Given the description of an element on the screen output the (x, y) to click on. 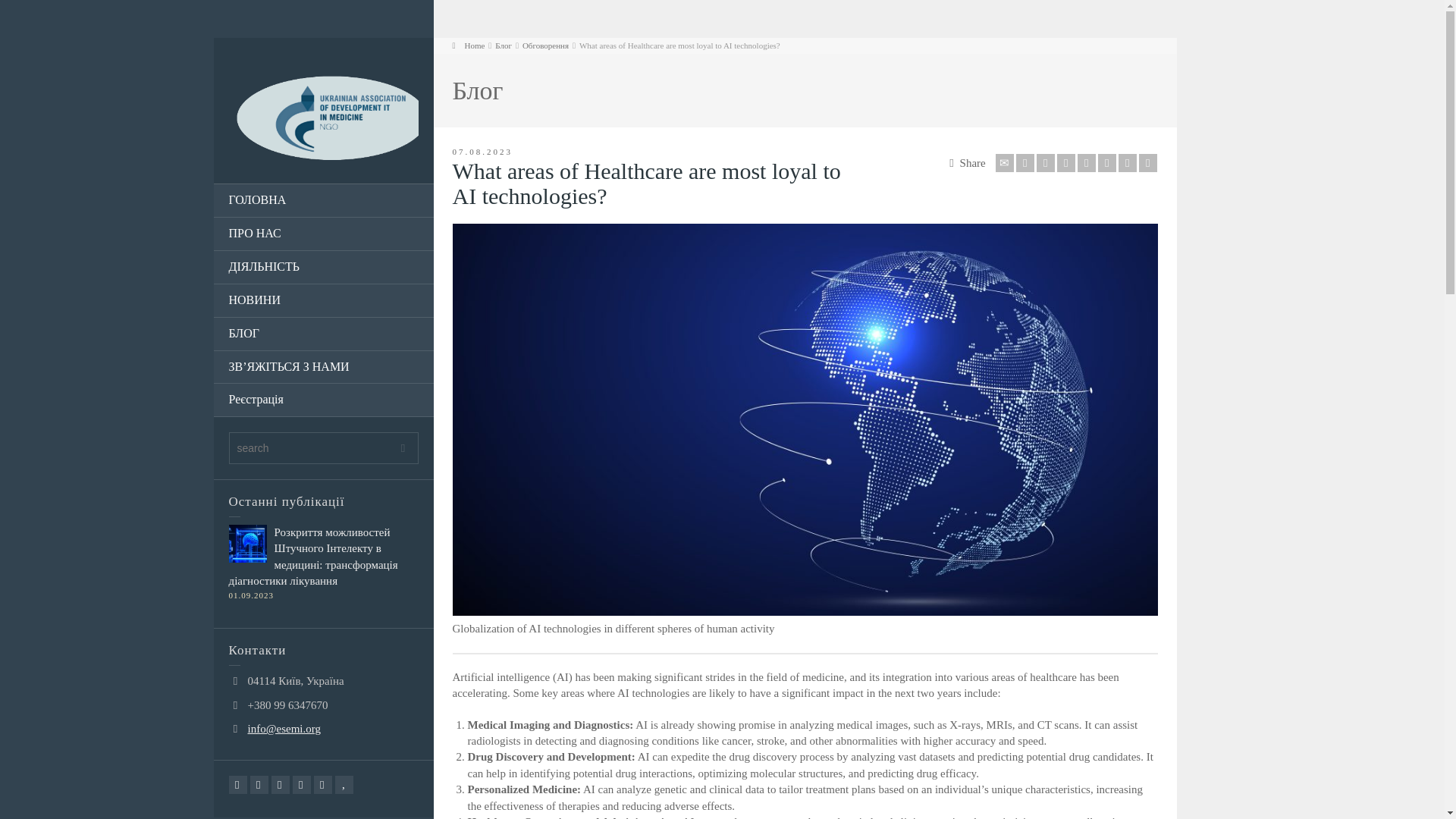
UADITM (323, 117)
Home (467, 44)
Twitter (237, 784)
Twitter (1024, 162)
Linkedin (301, 784)
Facebook (258, 784)
Email (1004, 162)
Skype (322, 784)
YouTube (343, 784)
